Given the description of an element on the screen output the (x, y) to click on. 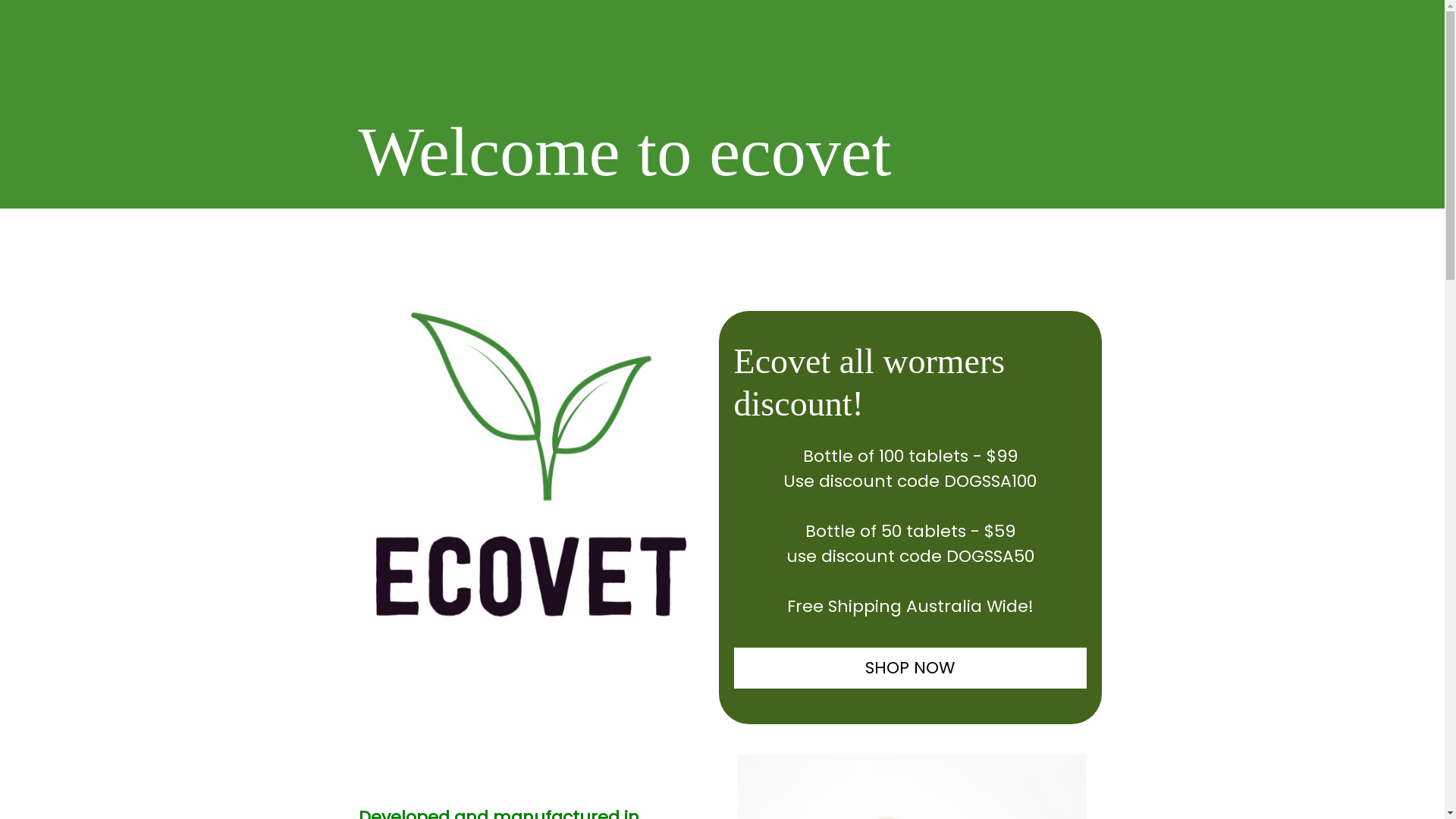
SHOP NOW Element type: text (910, 667)
